Given the description of an element on the screen output the (x, y) to click on. 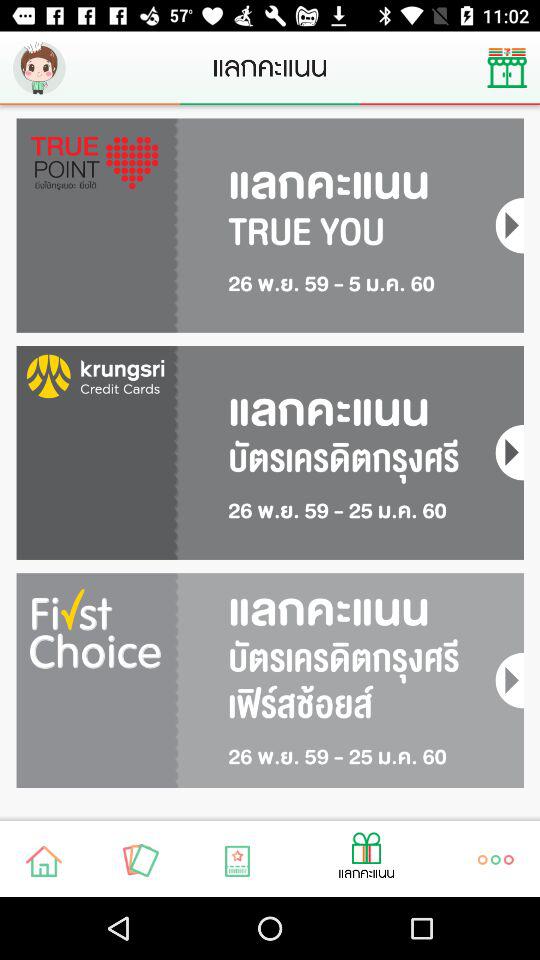
click on home button at bottom left corner (43, 861)
select the icon on the top right corner of the web page (507, 68)
